Given the description of an element on the screen output the (x, y) to click on. 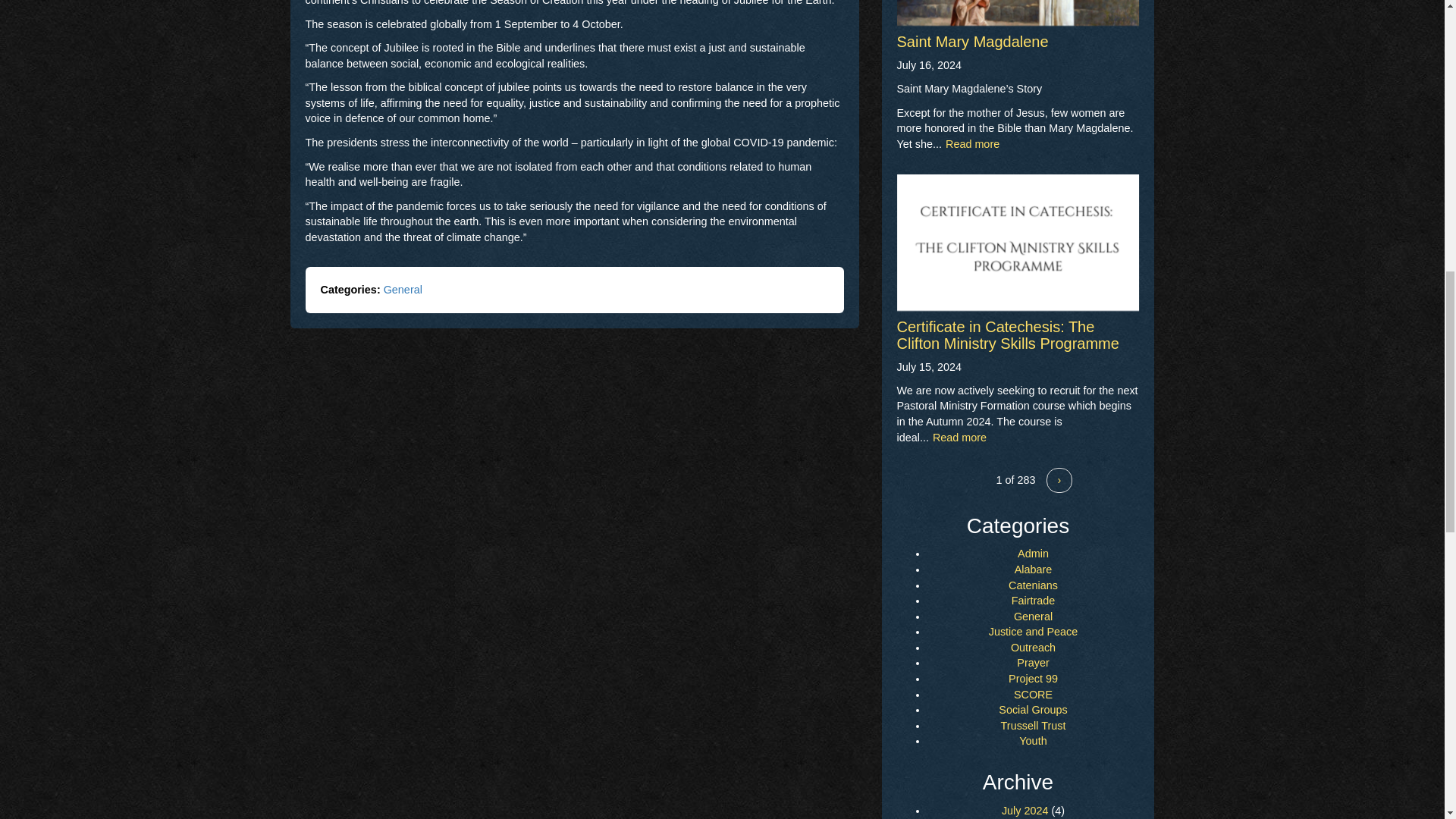
General (403, 289)
Read more (960, 437)
Saint Mary Magdalene (972, 41)
Read more (971, 143)
